Given the description of an element on the screen output the (x, y) to click on. 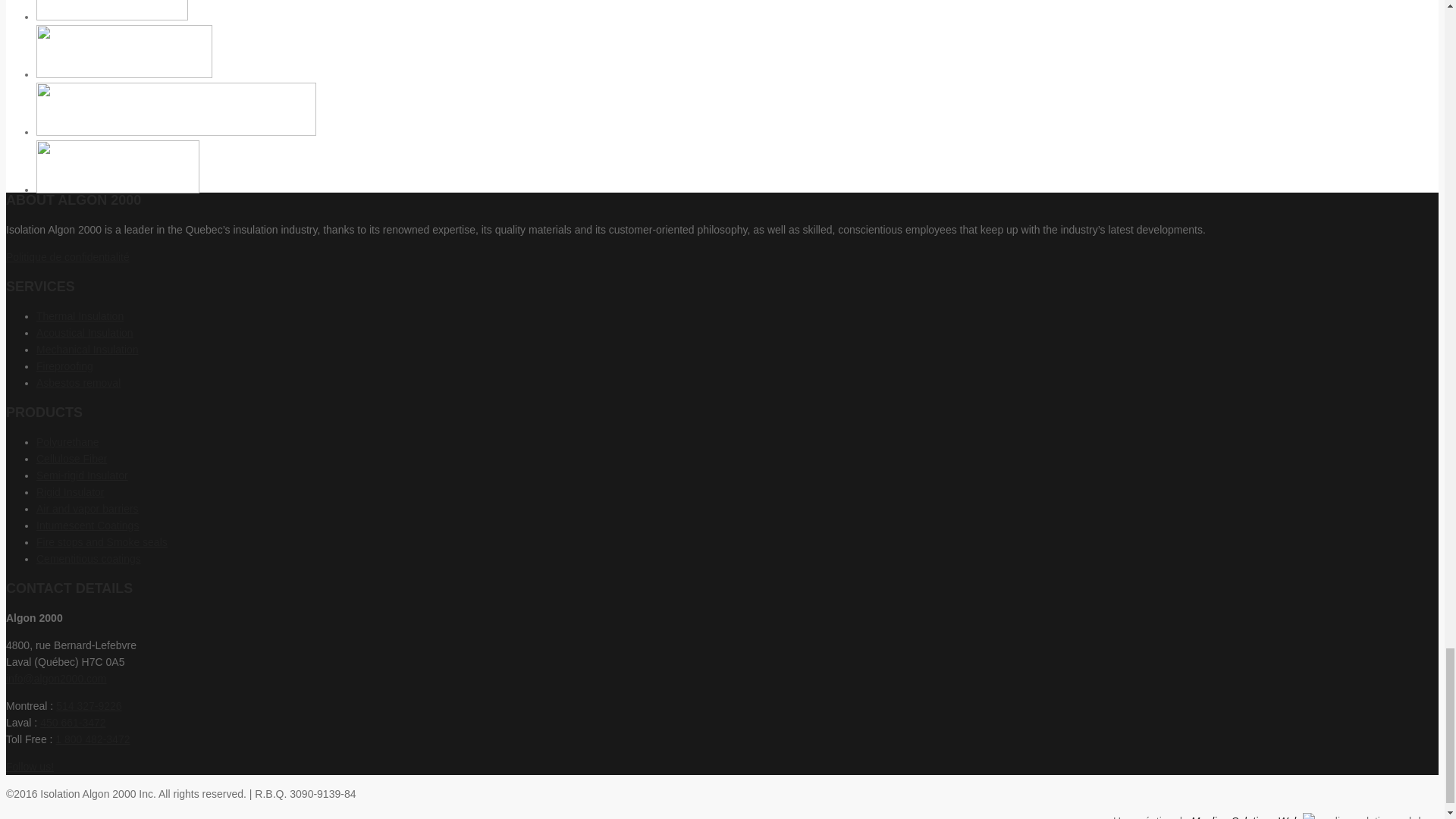
heatlok-soya-hfo-tm (175, 108)
logo-aermq (117, 166)
logo-caliber (111, 10)
